Given the description of an element on the screen output the (x, y) to click on. 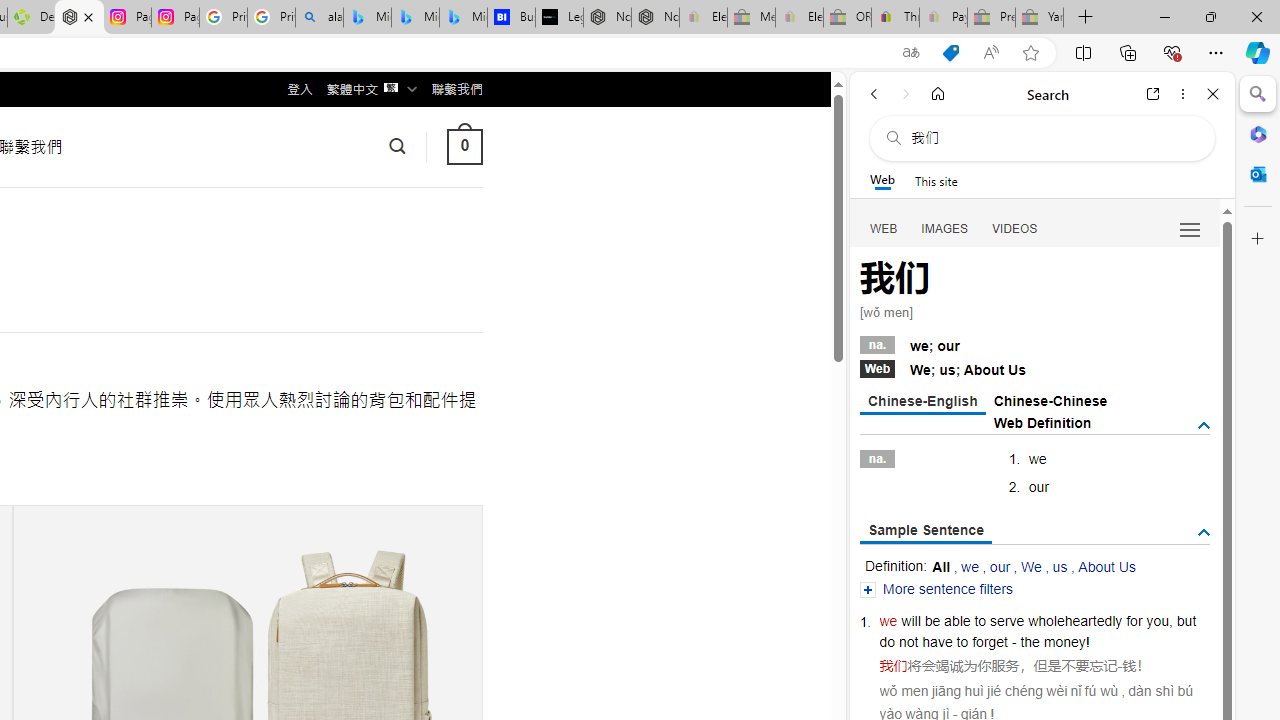
be (932, 620)
